Given the description of an element on the screen output the (x, y) to click on. 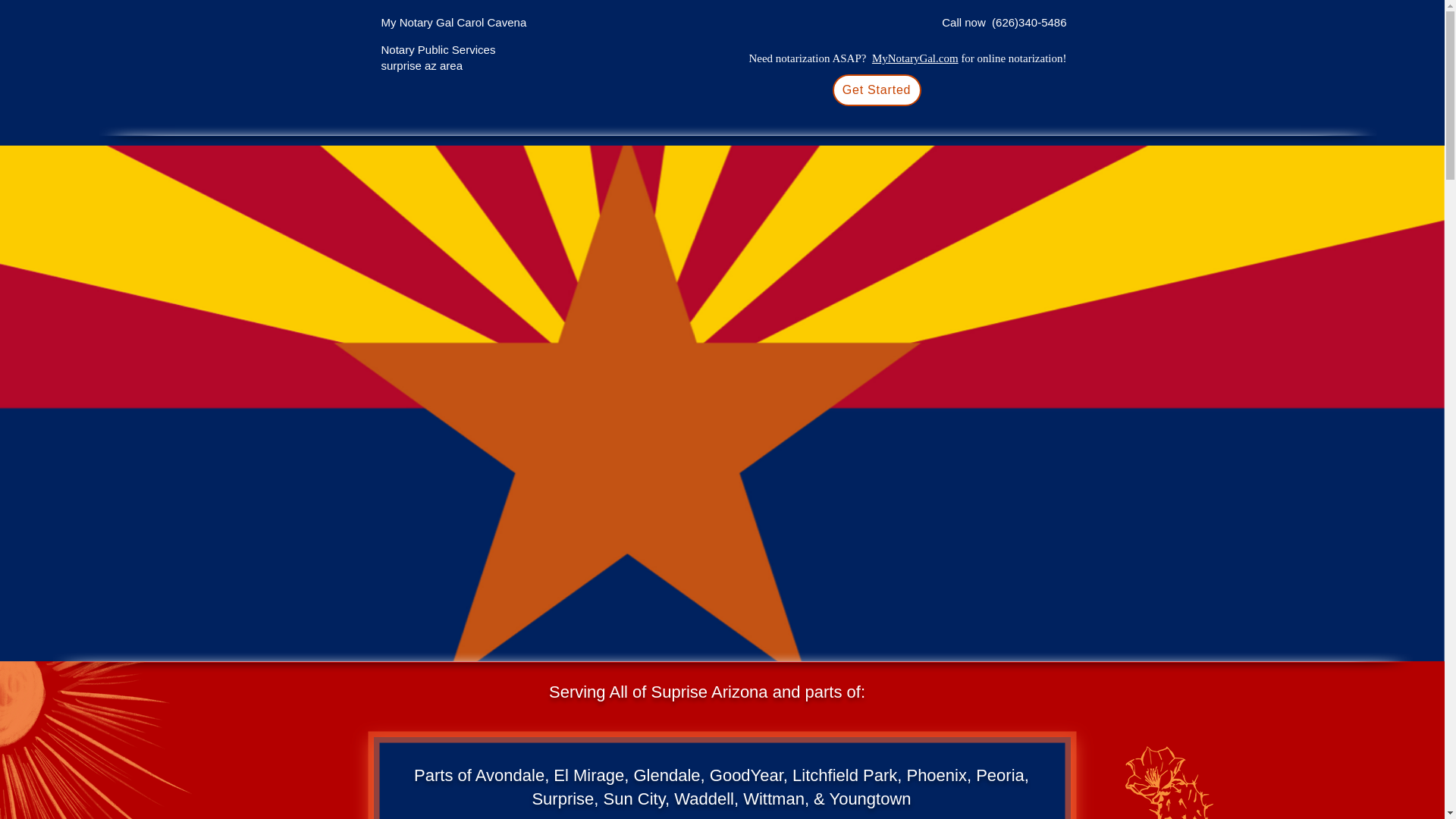
Get Started (876, 90)
